Given the description of an element on the screen output the (x, y) to click on. 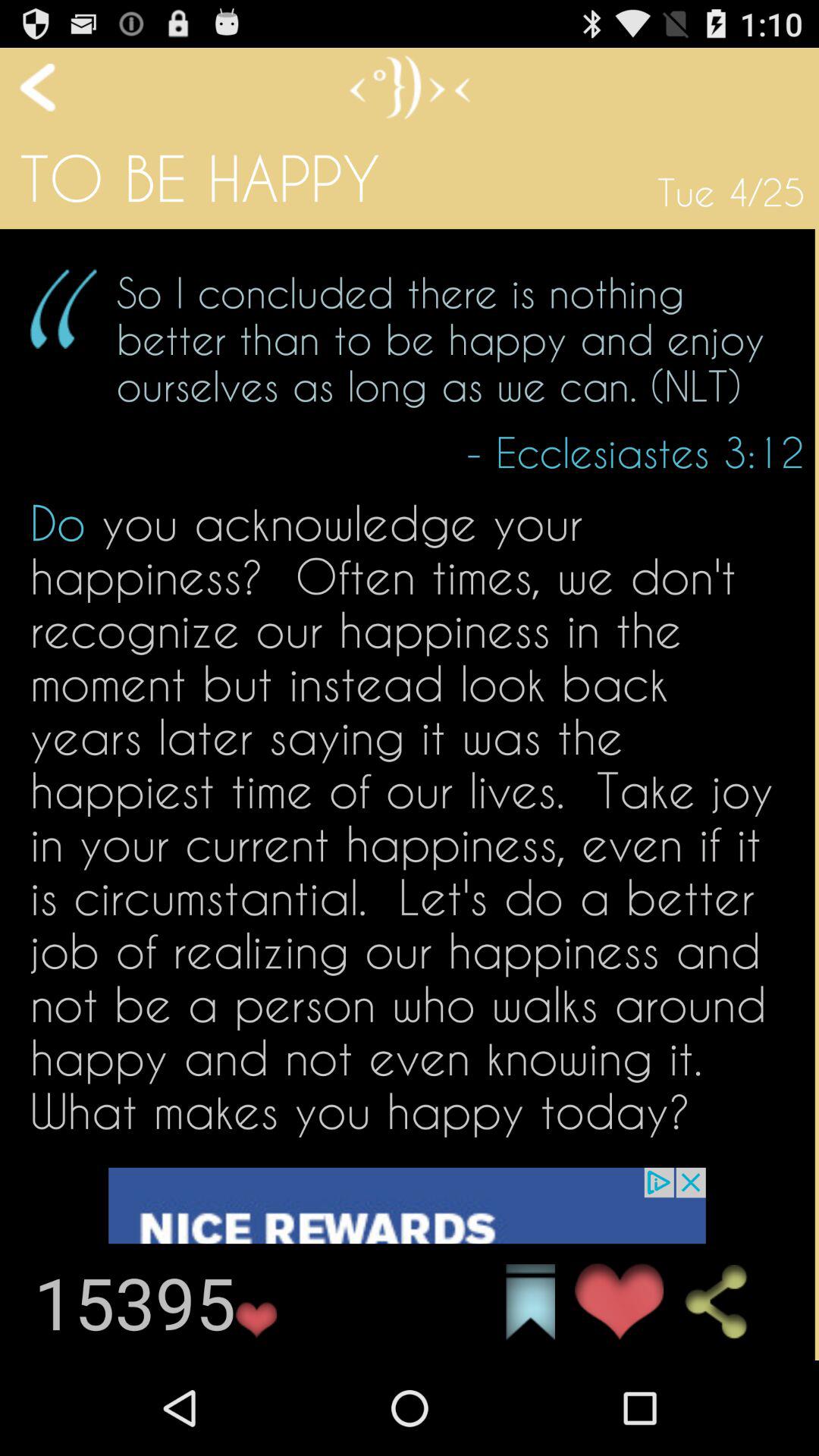
good like (619, 1301)
